Given the description of an element on the screen output the (x, y) to click on. 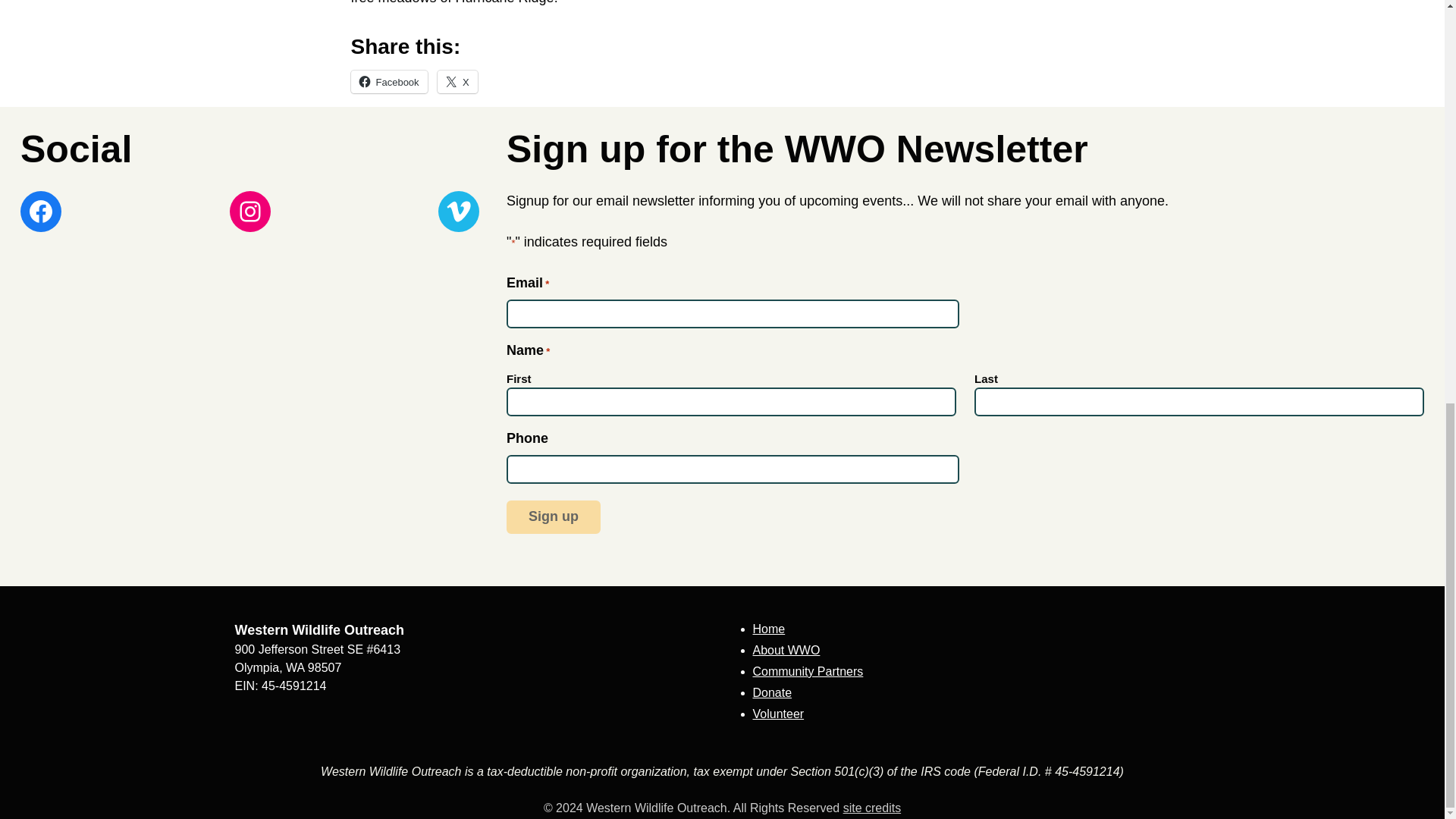
Click to share on X (457, 81)
Facebook (388, 81)
Sign up (552, 516)
X (457, 81)
Click to share on Facebook (388, 81)
